Given the description of an element on the screen output the (x, y) to click on. 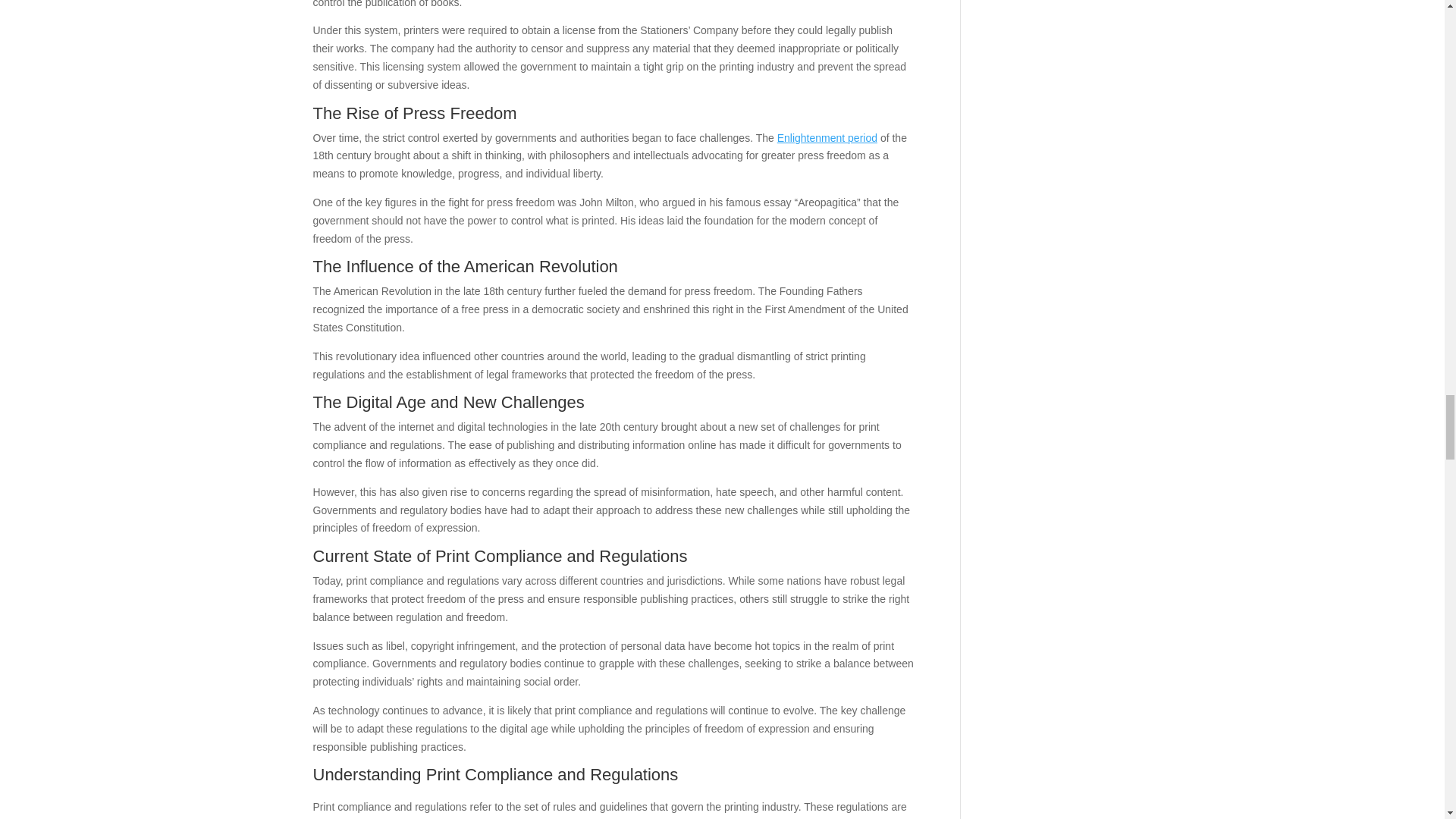
Enlightenment period (827, 137)
